Given the description of an element on the screen output the (x, y) to click on. 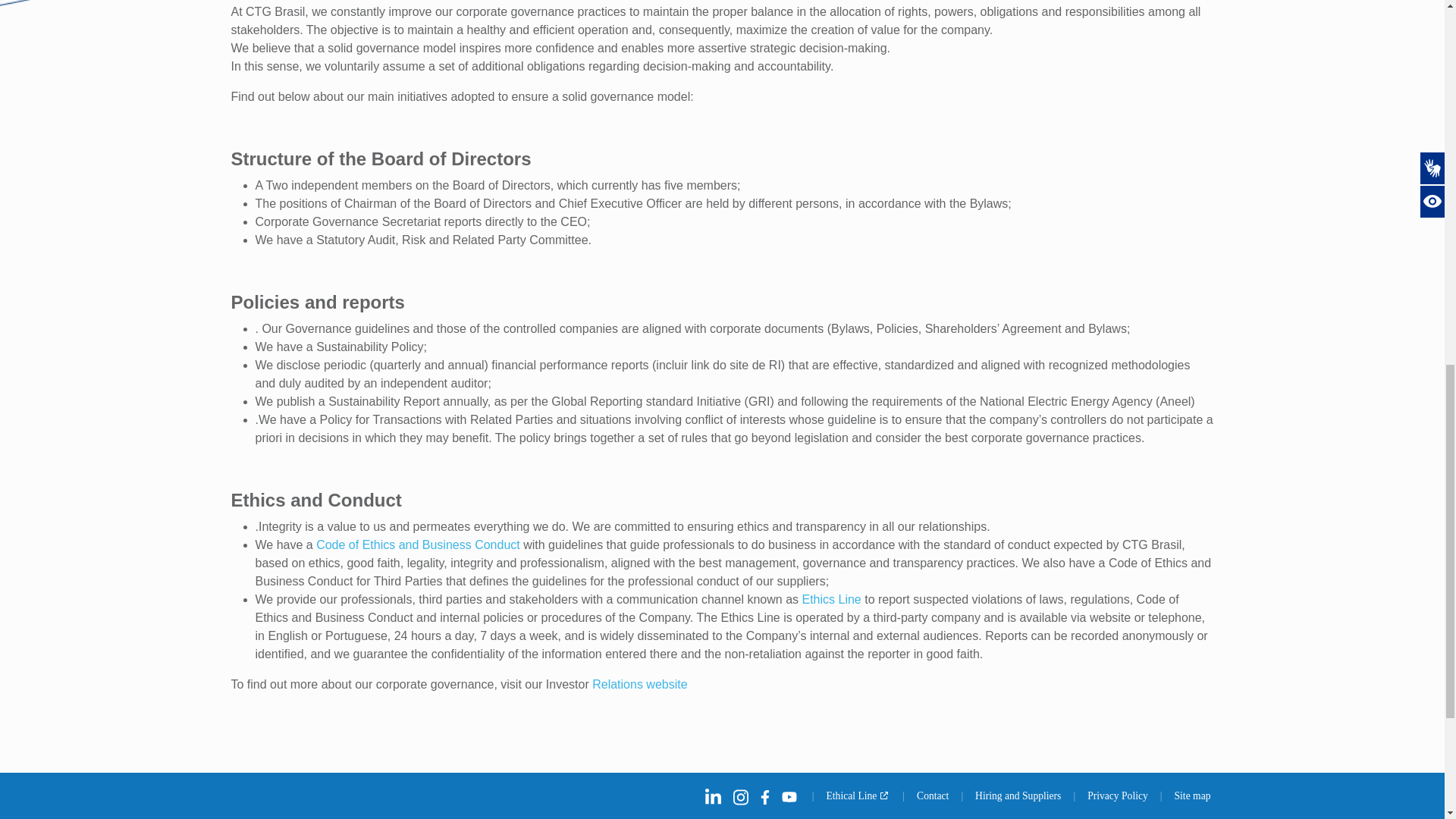
Code of Ethics and Business Conduct (417, 544)
